Given the description of an element on the screen output the (x, y) to click on. 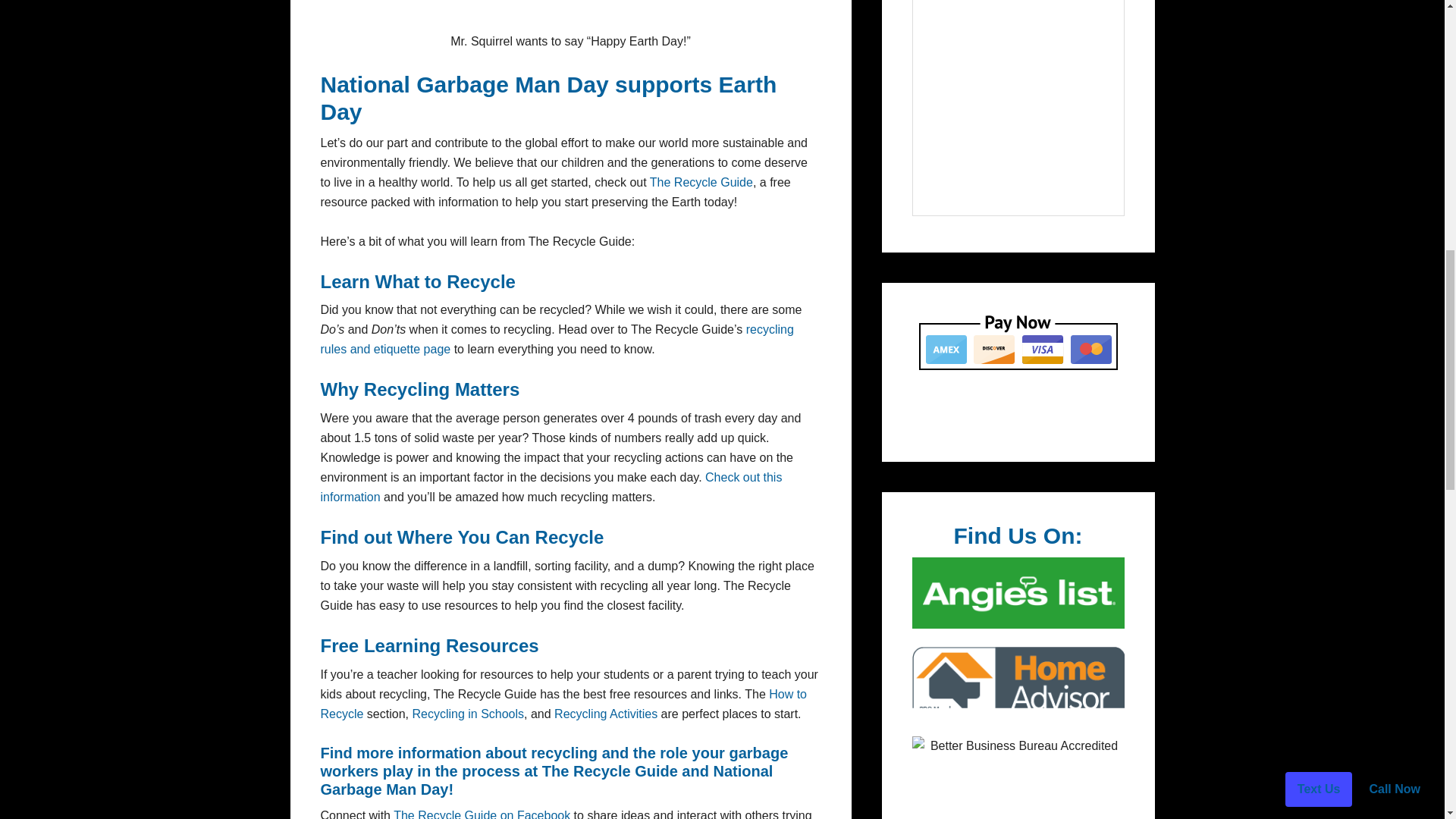
Why Recycling Matters (419, 389)
National Garbage Man Day (464, 83)
recycling rules and etiquette page (556, 338)
Recycling Activities (606, 713)
Recycling in Schools (468, 713)
What to Recycle (445, 281)
The Recycle Guide (609, 770)
The Recycle Guide (700, 182)
How to Recycle (563, 703)
What to Recycle (445, 281)
The Recycle Guide on Facebook (481, 814)
The Recycle Guide (609, 770)
National Garbage Man Day (464, 83)
Like The Recycle Guide on Facebook (481, 814)
The Recycle Guide (700, 182)
